Given the description of an element on the screen output the (x, y) to click on. 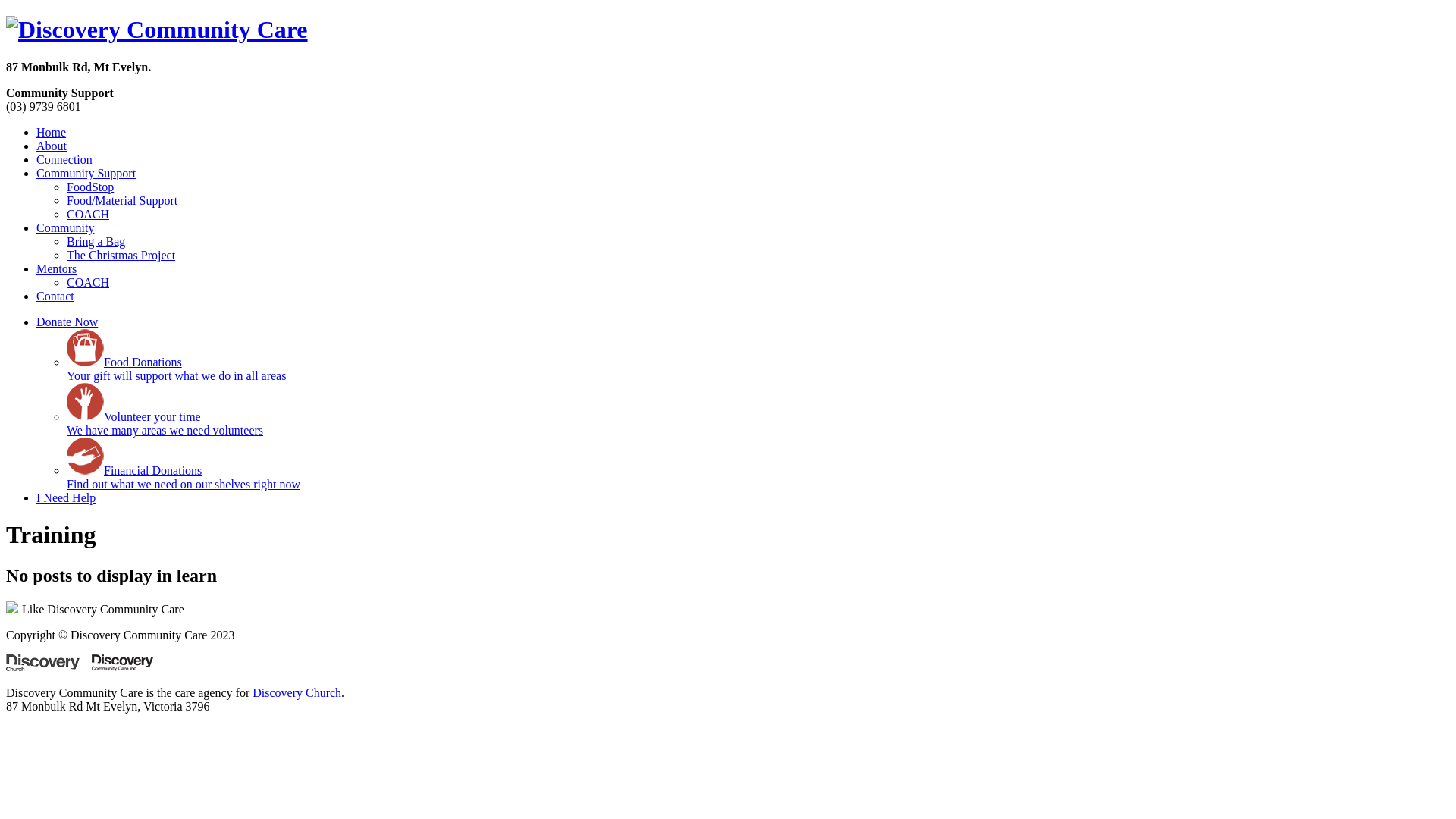
Volunteer your time
We have many areas we need volunteers Element type: text (164, 423)
Home Element type: text (50, 131)
Bring a Bag Element type: text (95, 241)
COACH Element type: text (87, 213)
About Element type: text (51, 145)
Donate Now Element type: text (66, 321)
Like Discovery Community Care Element type: text (95, 608)
Contact Element type: text (55, 295)
Discovery Church Element type: text (296, 692)
Mentors Element type: text (56, 268)
Community Support Element type: text (85, 172)
I Need Help Element type: text (65, 497)
Community Element type: text (65, 227)
Discovery Community Care Element type: hover (156, 29)
The Christmas Project Element type: text (120, 254)
FoodStop Element type: text (89, 186)
Connection Element type: text (64, 159)
COACH Element type: text (87, 282)
Food/Material Support Element type: text (121, 200)
